Given the description of an element on the screen output the (x, y) to click on. 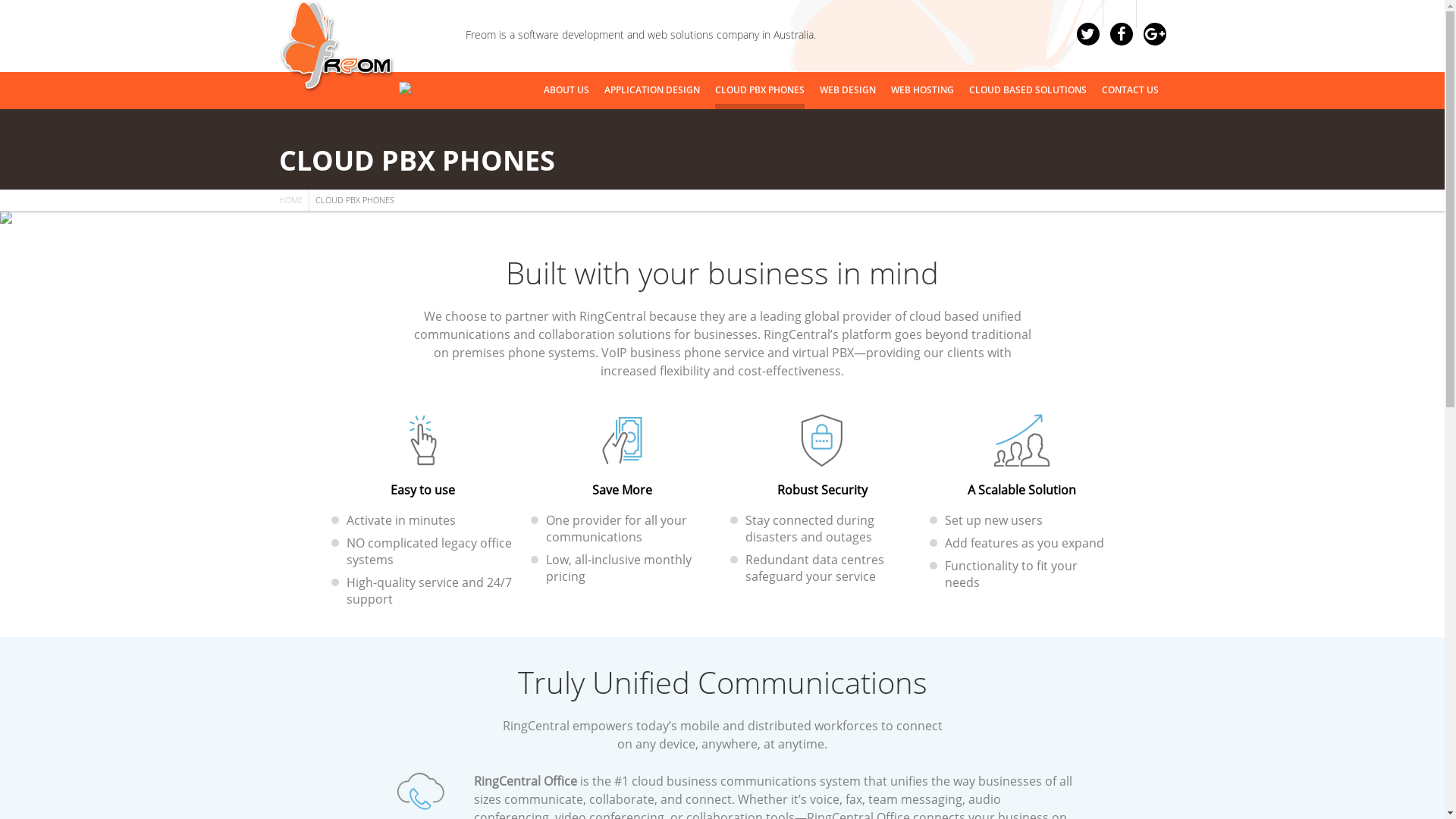
APPLICATION DESIGN Element type: text (651, 90)
WEB DESIGN Element type: text (847, 90)
ABOUT US Element type: text (565, 90)
HOME Element type: text (290, 199)
CLOUD PBX PHONES Element type: text (758, 90)
CONTACT US Element type: text (1129, 90)
CLOUD BASED SOLUTIONS Element type: text (1027, 90)
WEB HOSTING Element type: text (921, 90)
